Given the description of an element on the screen output the (x, y) to click on. 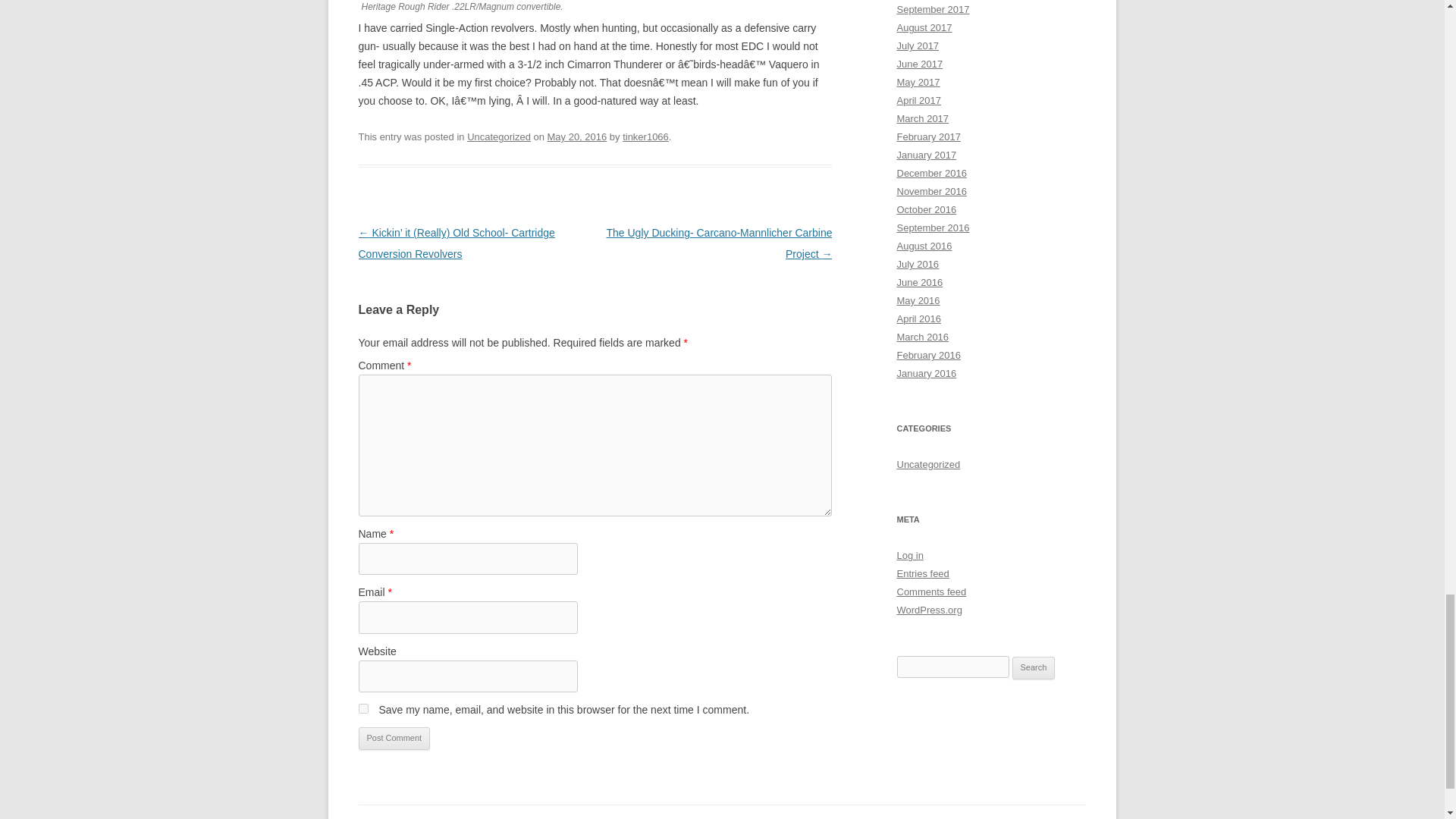
Uncategorized (499, 136)
yes (363, 708)
Post Comment (393, 738)
May 20, 2016 (577, 136)
tinker1066 (645, 136)
View all posts by tinker1066 (645, 136)
5:05 pm (577, 136)
Search (1033, 667)
Post Comment (393, 738)
